Given the description of an element on the screen output the (x, y) to click on. 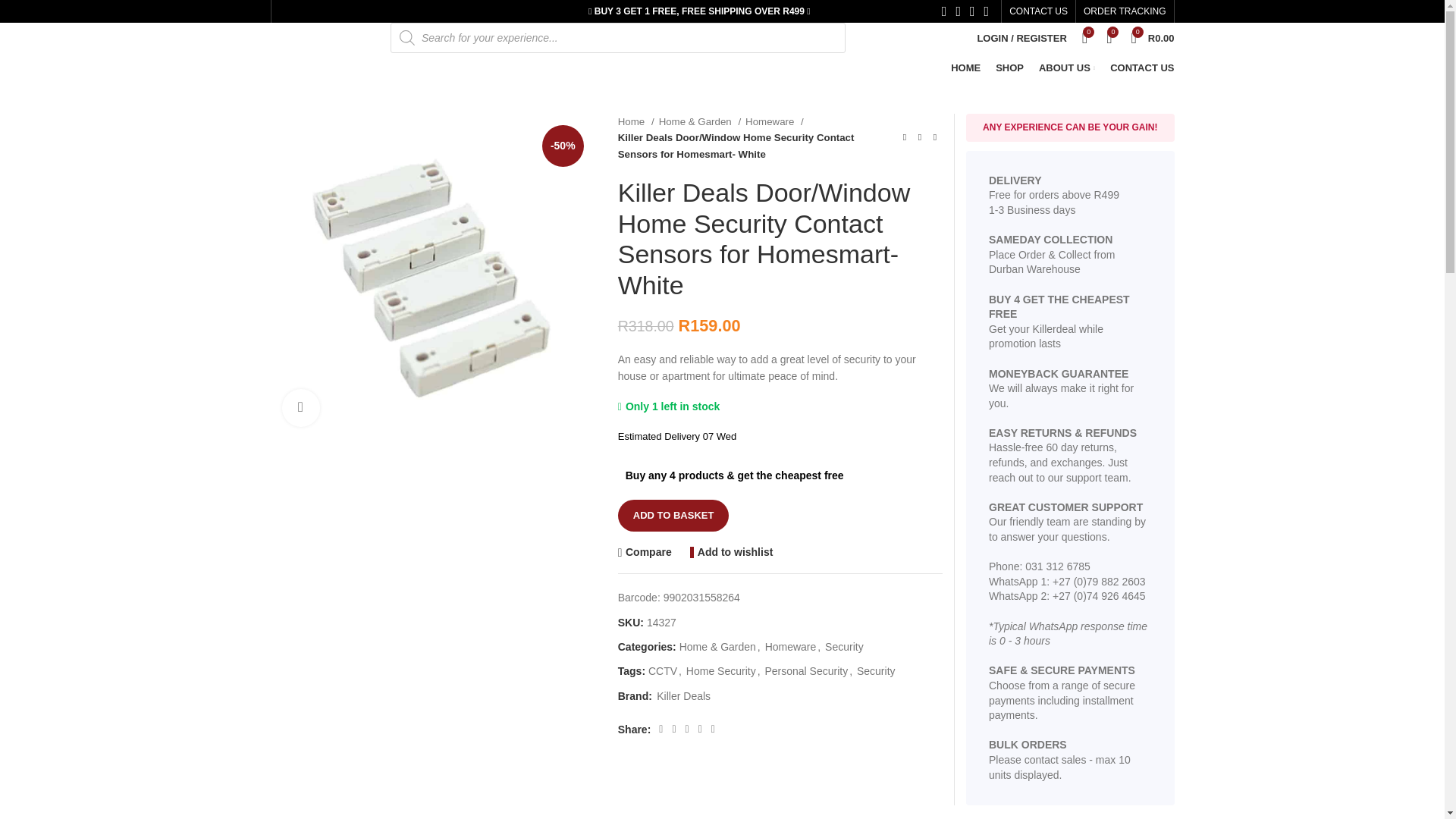
14327 (431, 275)
ORDER TRACKING (1124, 11)
My account (1151, 37)
Shopping cart (1021, 37)
View brand (1151, 37)
CONTACT US (683, 695)
